Given the description of an element on the screen output the (x, y) to click on. 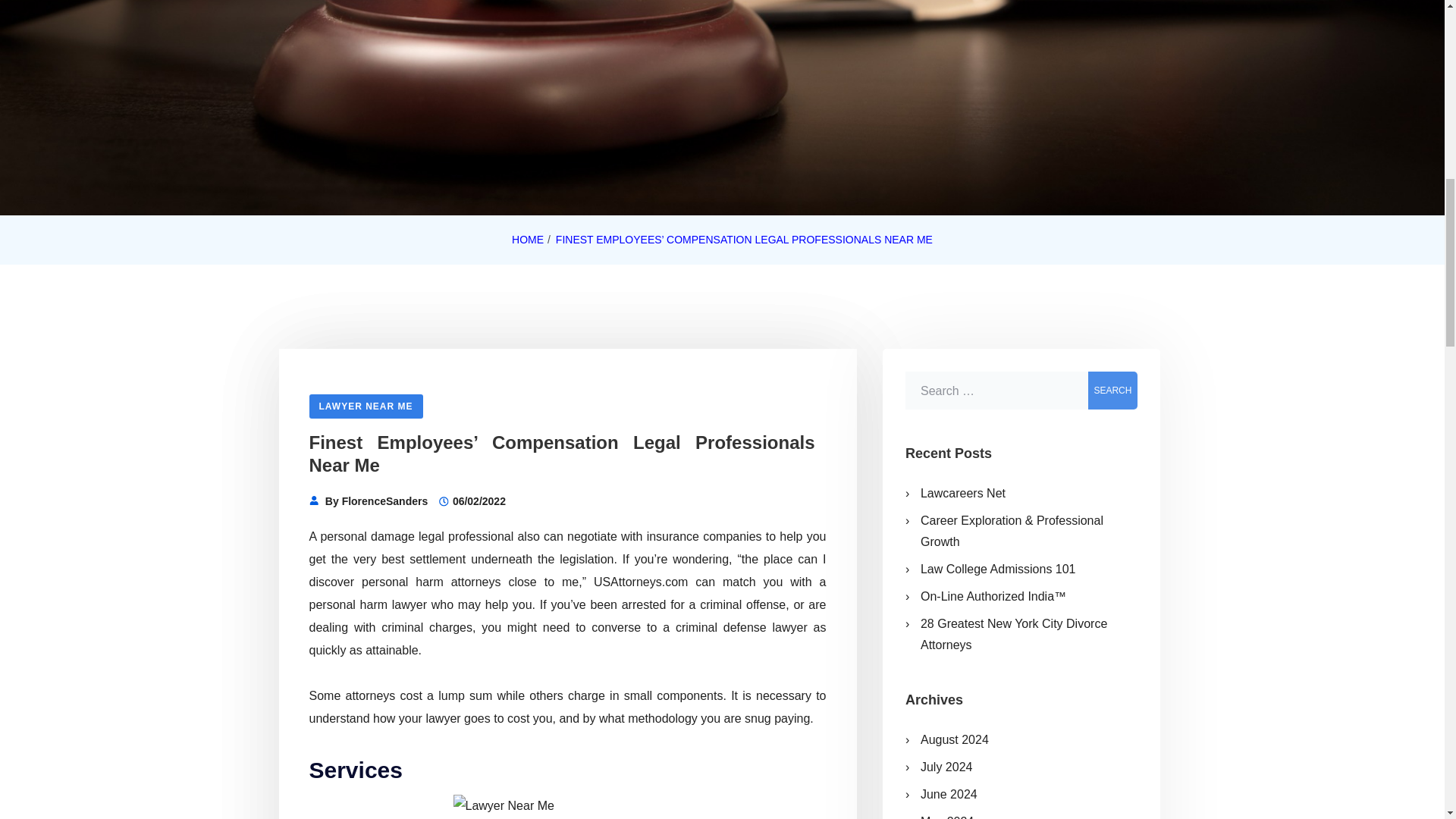
Search (1112, 390)
HOME (527, 240)
Search (1112, 390)
